Given the description of an element on the screen output the (x, y) to click on. 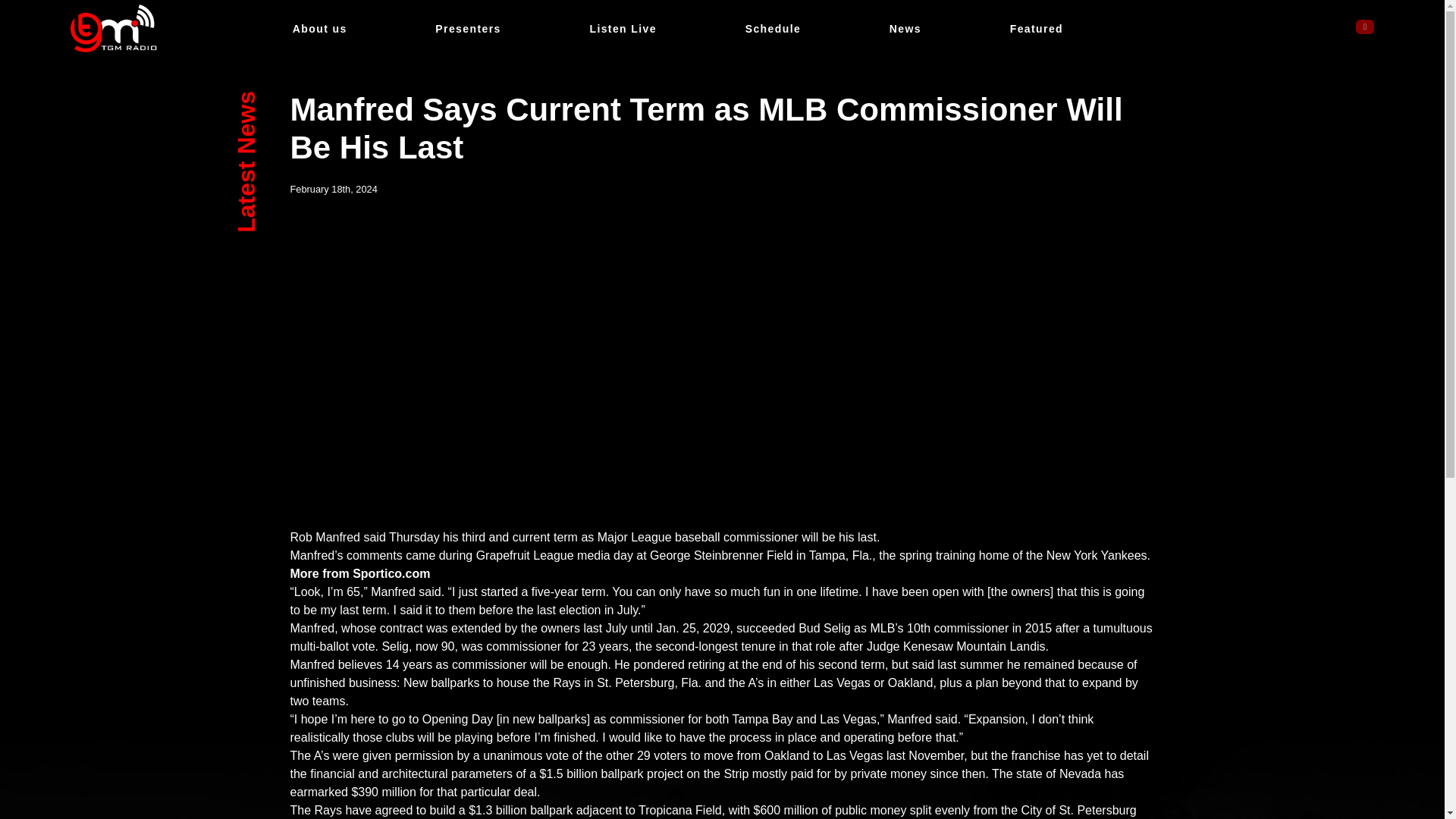
permission (423, 755)
Featured (1036, 28)
Tampa Bay (762, 718)
New York Yankees (1096, 554)
About us (319, 28)
Rays (566, 682)
Listen Live (622, 28)
News (905, 28)
extended (475, 627)
Presenters (467, 28)
Oakland (721, 28)
Schedule (910, 682)
